Given the description of an element on the screen output the (x, y) to click on. 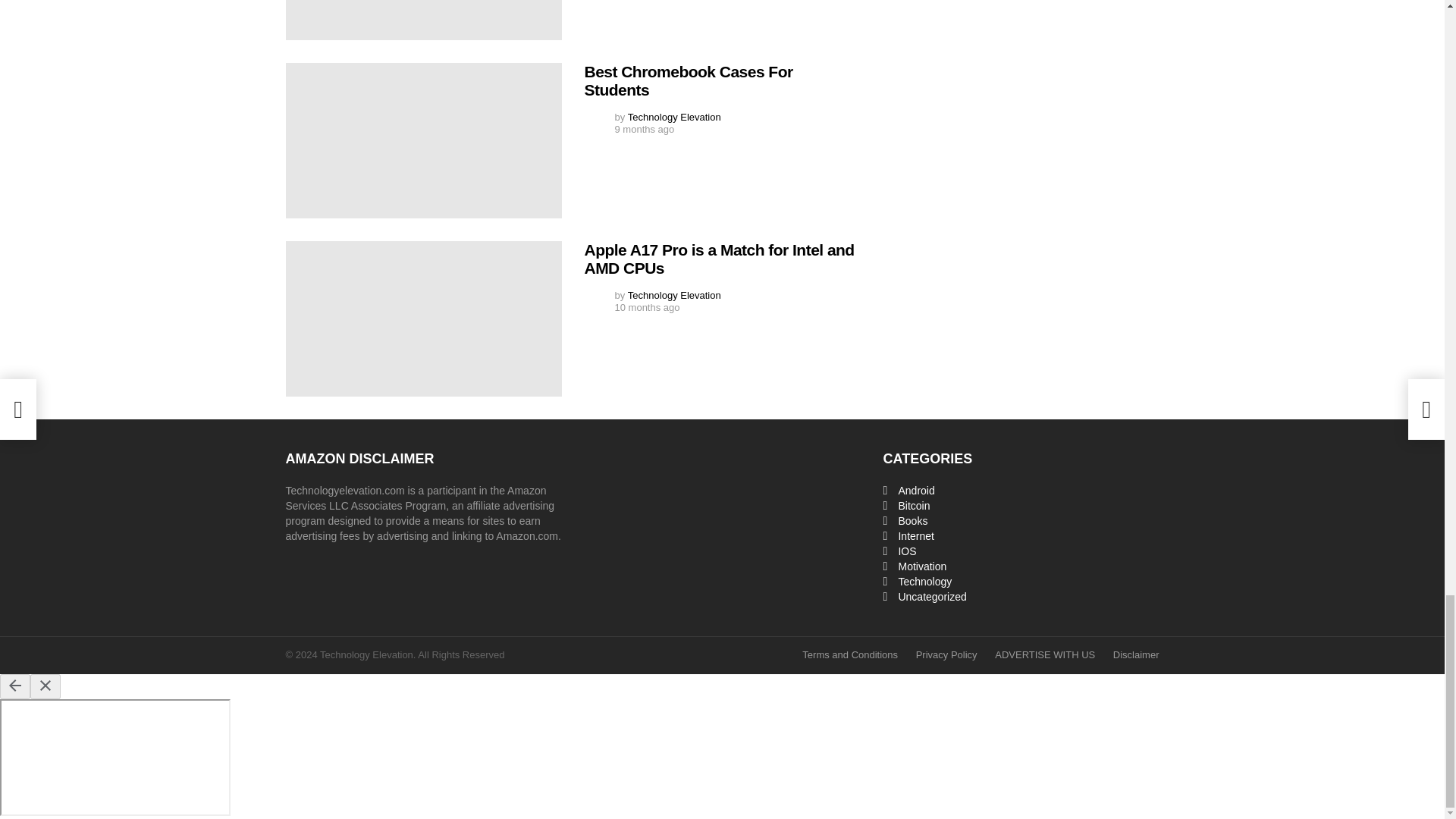
Best Chromebook Cases For Students (422, 140)
October 30, 2023, 6:36 pm (644, 129)
Best Routers for PS5 (422, 20)
Posts by Technology Elevation (673, 116)
Apple A17 Pro is a Match for Intel and AMD CPUs (422, 318)
